Given the description of an element on the screen output the (x, y) to click on. 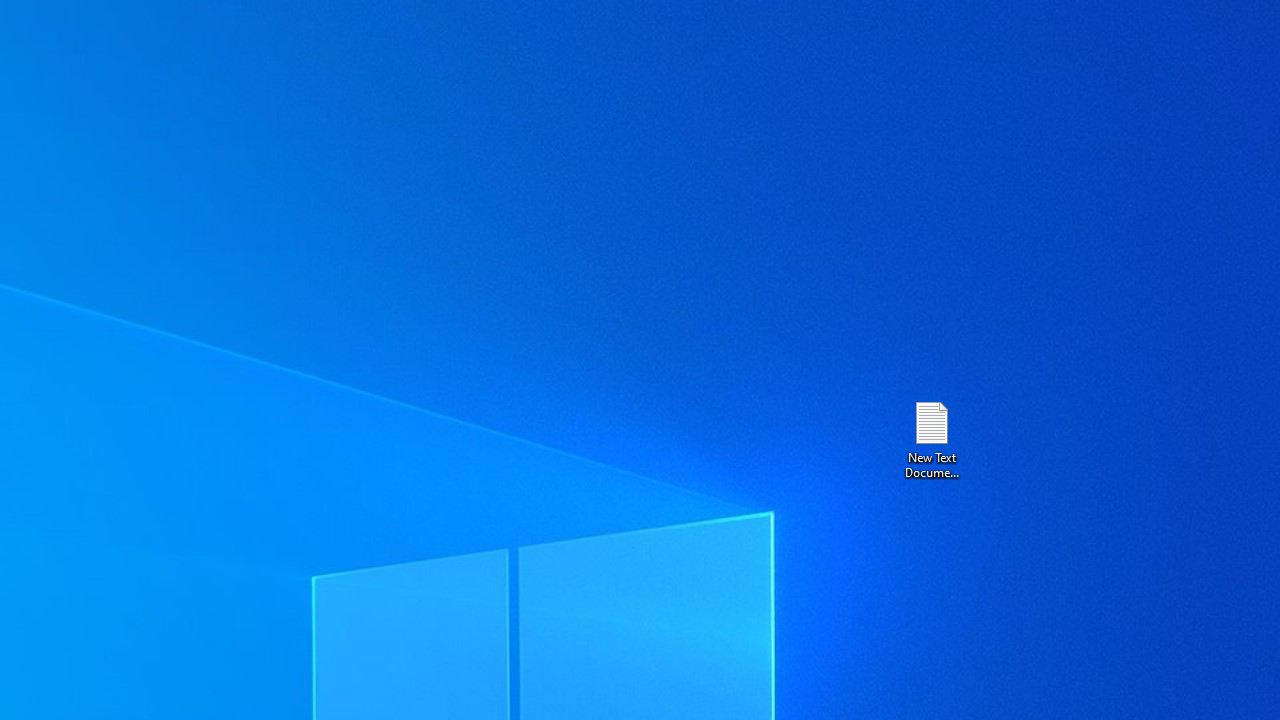
New Text Document (2) (931, 438)
